Given the description of an element on the screen output the (x, y) to click on. 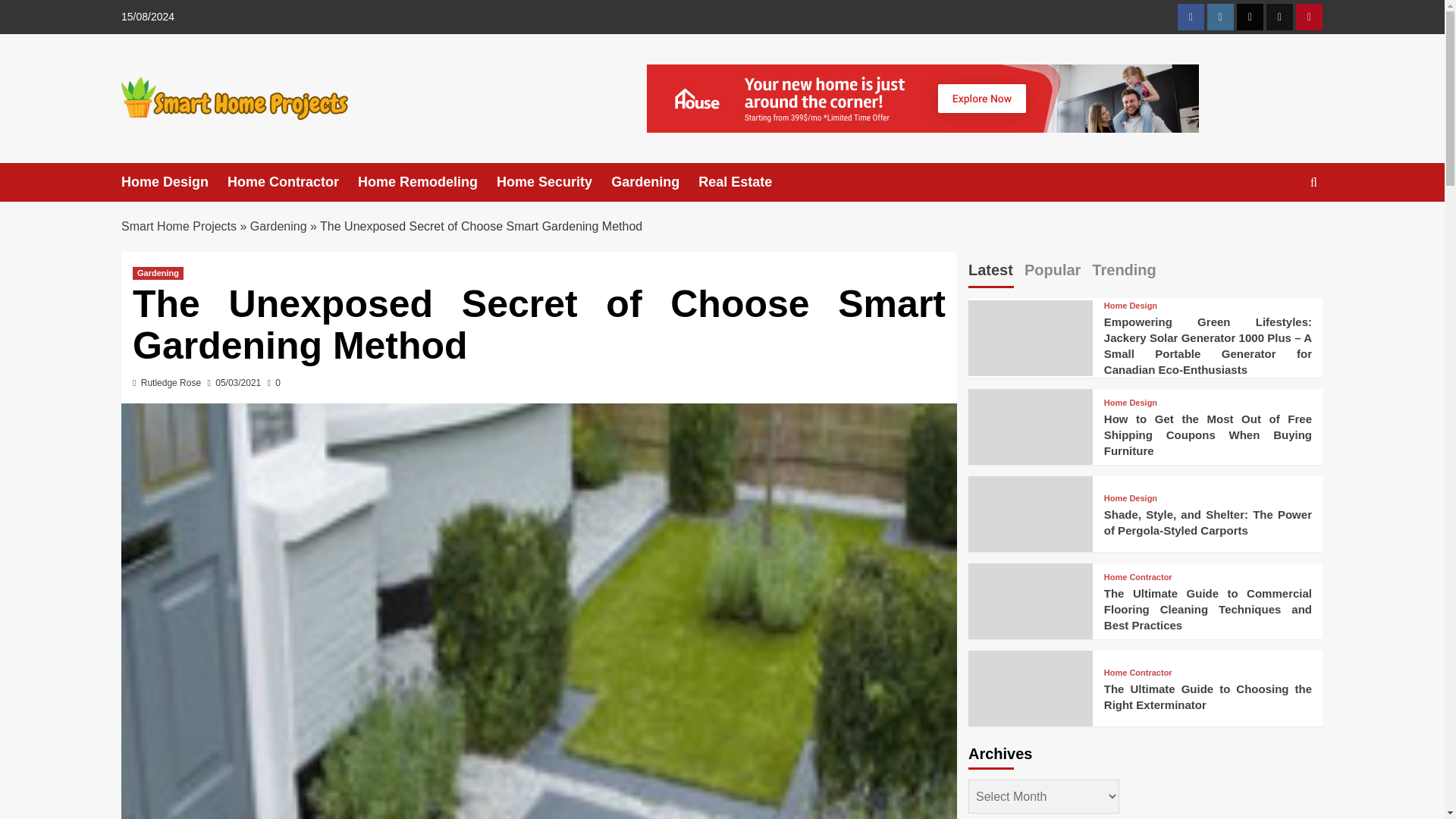
Search (1278, 229)
Home Design (173, 181)
Twitter (1249, 17)
Real Estate (744, 181)
Tiktok (1279, 17)
Smart Home Projects (177, 226)
Gardening (654, 181)
Home Remodeling (427, 181)
